Given the description of an element on the screen output the (x, y) to click on. 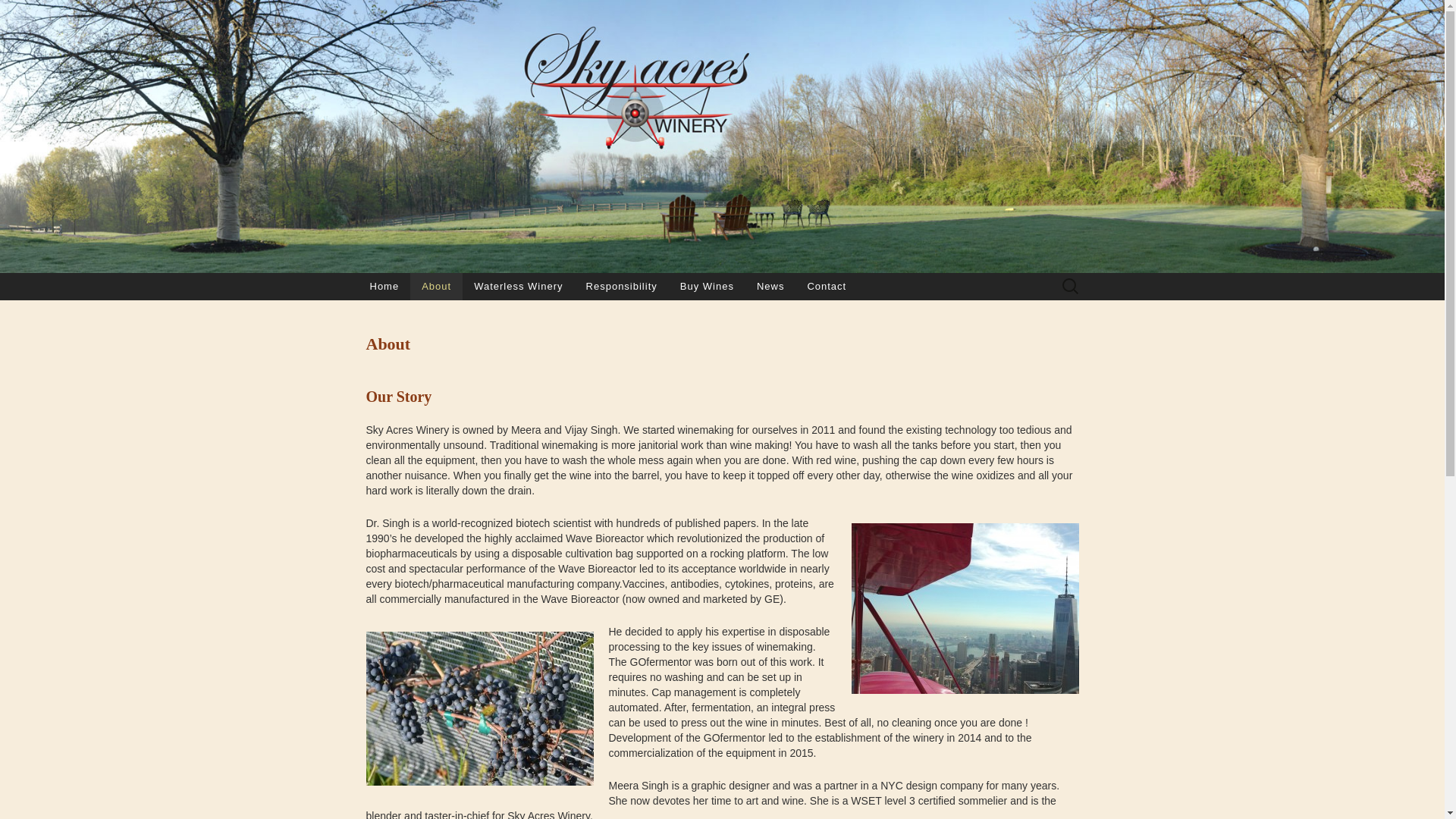
Waterless Winery (518, 286)
News (770, 286)
Contact (825, 286)
Home (384, 286)
Search (16, 12)
Responsibility (621, 286)
About (436, 286)
Buy Wines (706, 286)
